Given the description of an element on the screen output the (x, y) to click on. 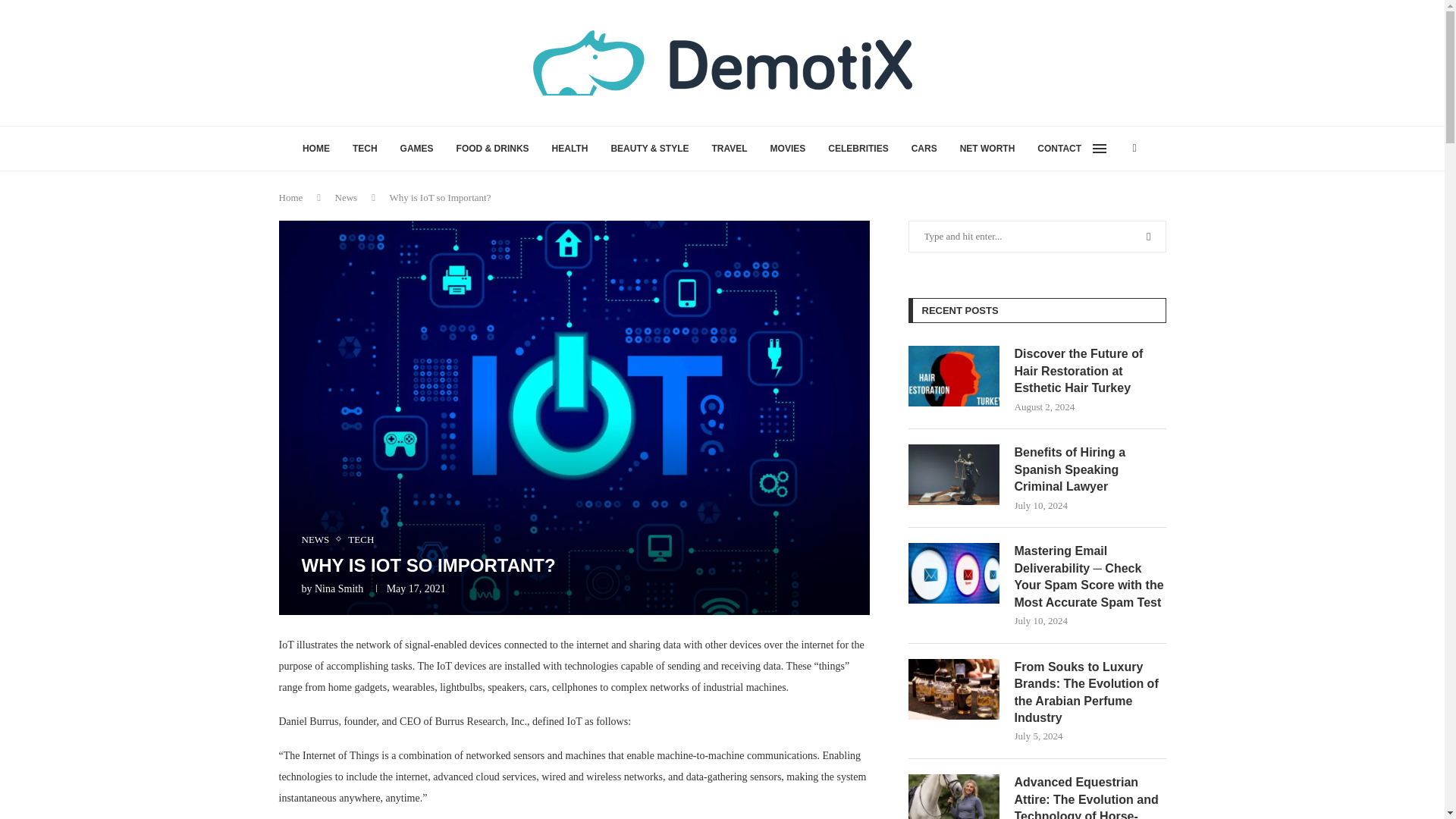
TECH (360, 539)
Home (290, 197)
Benefits of Hiring a Spanish Speaking Criminal Lawyer (1090, 469)
Benefits of Hiring a Spanish Speaking Criminal Lawyer (953, 474)
News (346, 197)
NET WORTH (986, 148)
NEWS (319, 539)
CELEBRITIES (858, 148)
Nina Smith (338, 588)
